Given the description of an element on the screen output the (x, y) to click on. 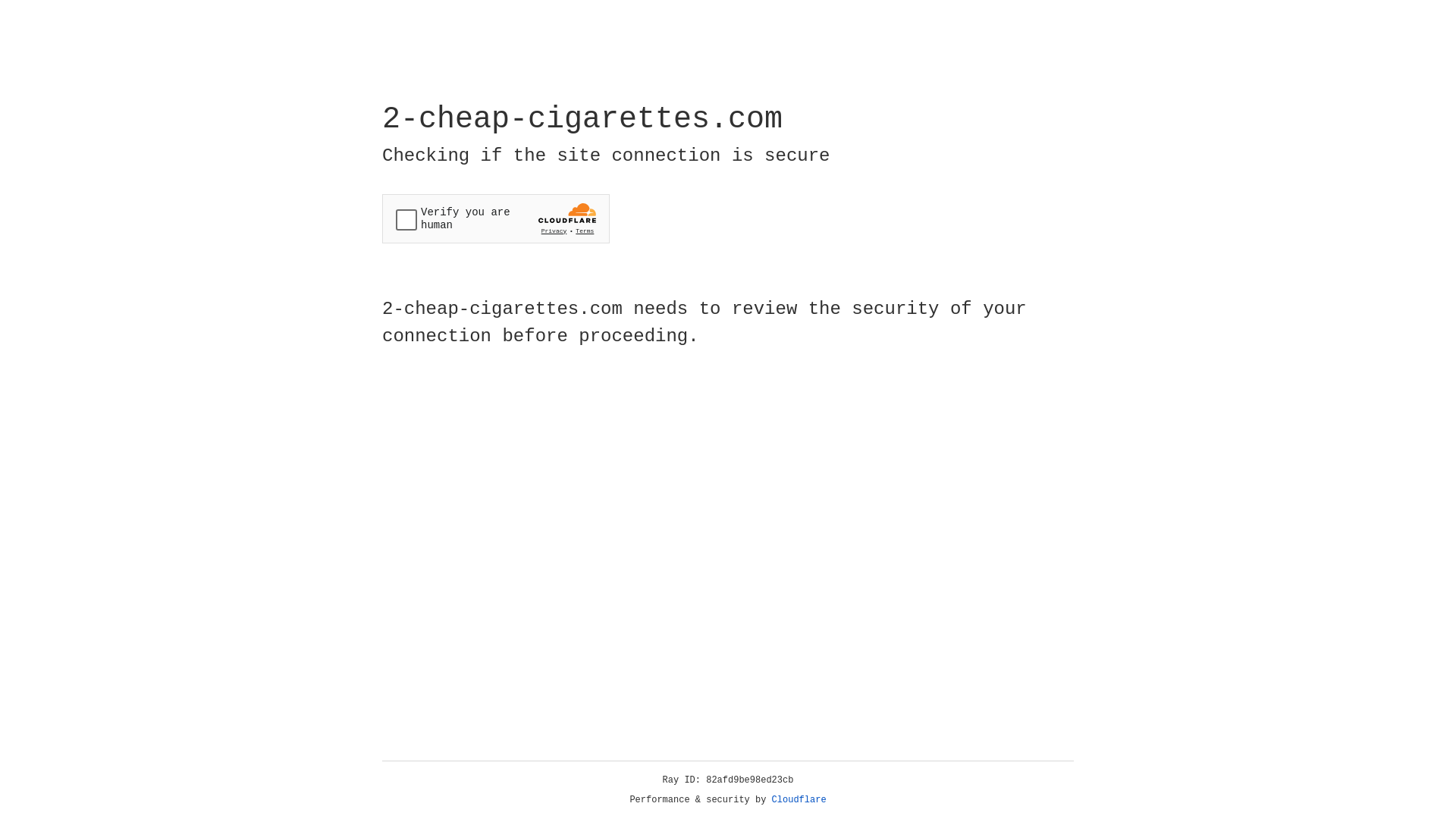
Widget containing a Cloudflare security challenge Element type: hover (495, 218)
Cloudflare Element type: text (798, 799)
